Given the description of an element on the screen output the (x, y) to click on. 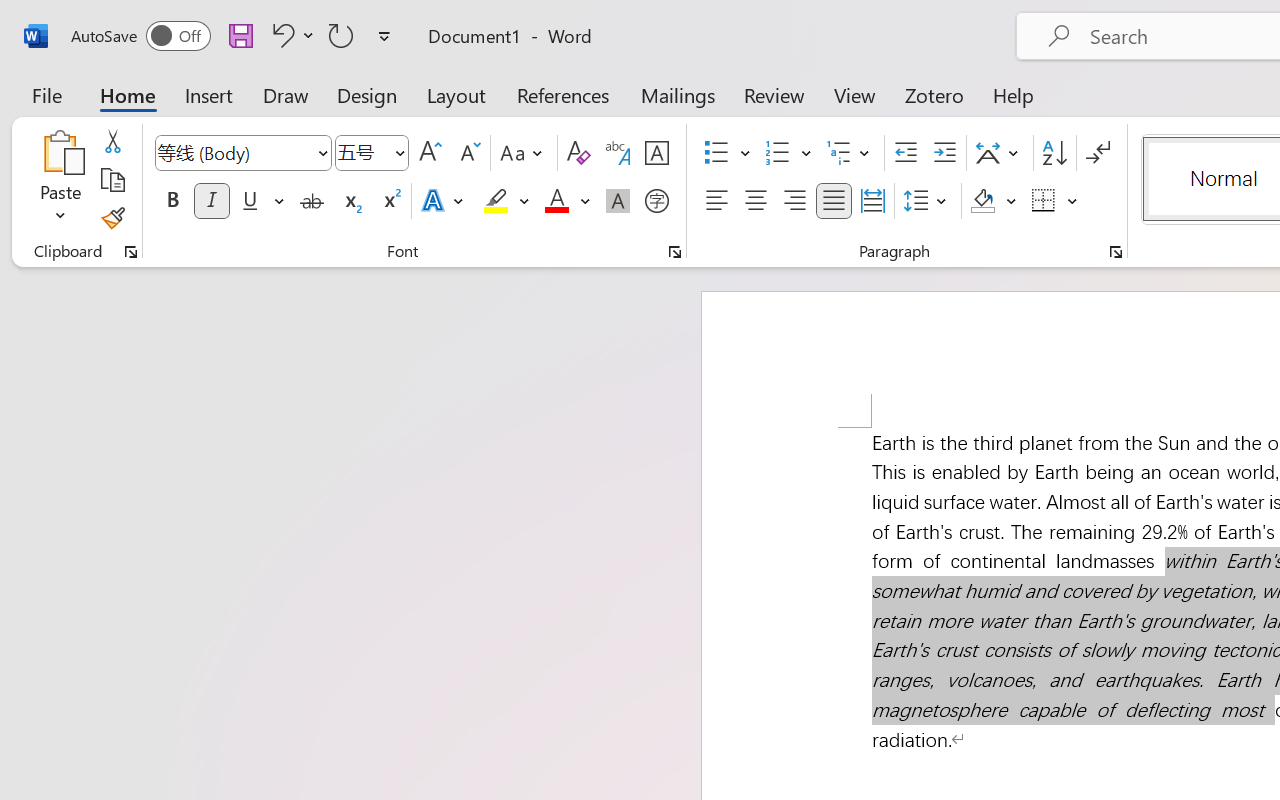
Text Highlight Color Yellow (495, 201)
Decrease Indent (906, 153)
Bold (172, 201)
Shading RGB(0, 0, 0) (982, 201)
Italic (212, 201)
Center (756, 201)
Help (1013, 94)
Undo Italic (290, 35)
